Given the description of an element on the screen output the (x, y) to click on. 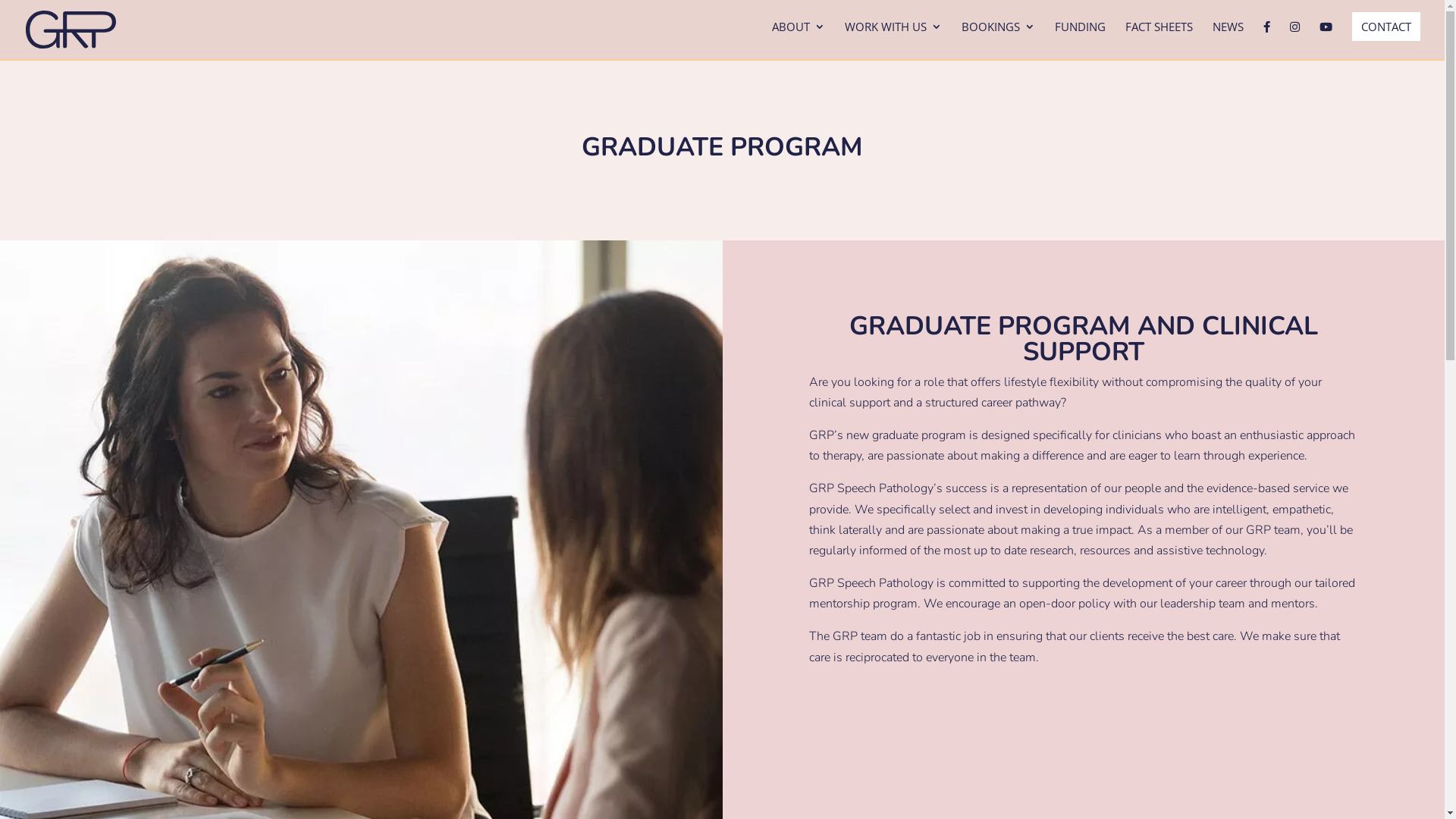
FUNDING Element type: text (1079, 39)
WORK WITH US Element type: text (892, 39)
BOOKINGS Element type: text (998, 39)
CONTACT Element type: text (1386, 26)
NEWS Element type: text (1227, 39)
FACT SHEETS Element type: text (1158, 39)
ABOUT Element type: text (798, 39)
